Given the description of an element on the screen output the (x, y) to click on. 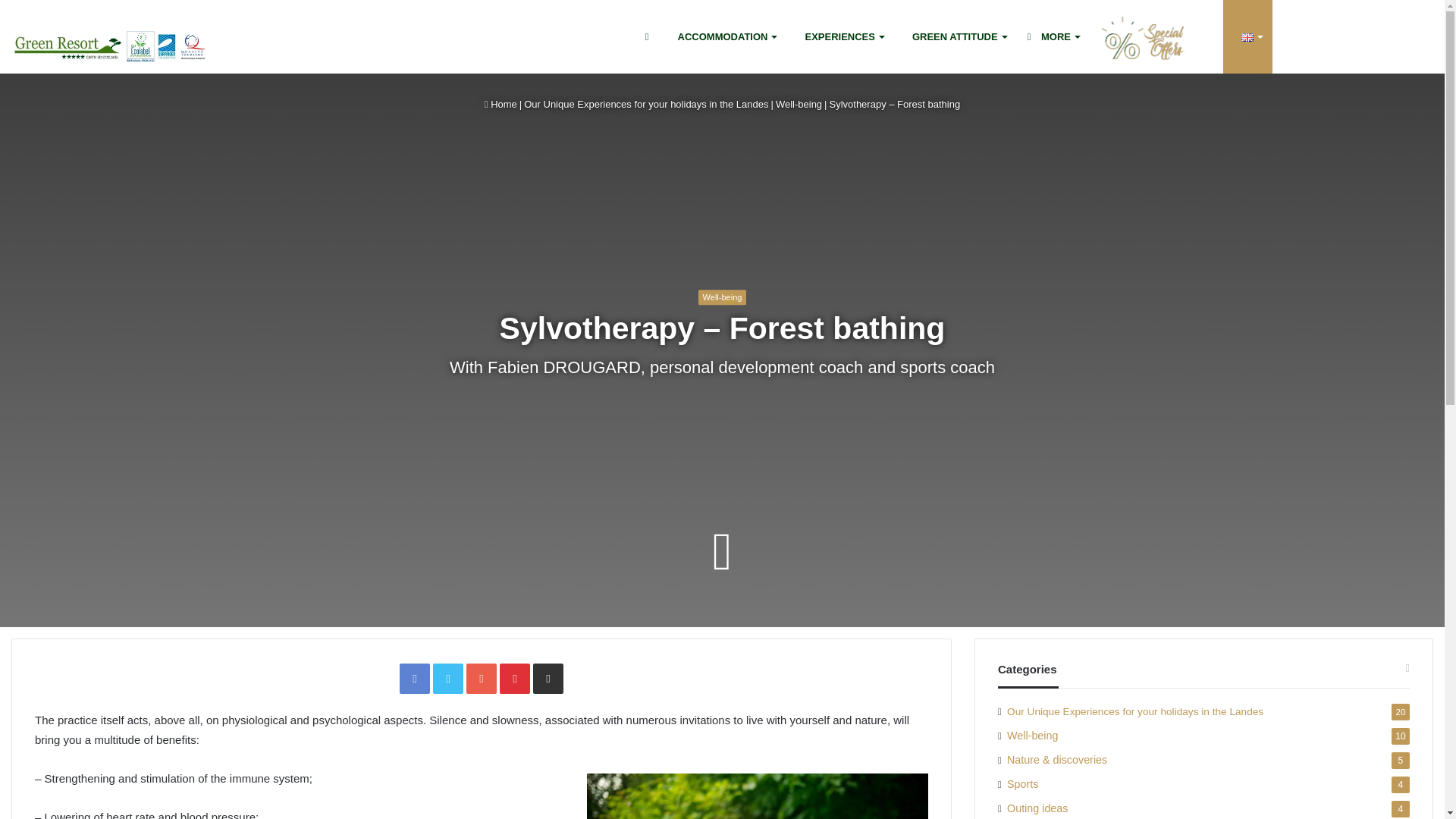
English (1247, 37)
GREEN ATTITUDE (954, 36)
Our Unique Experiences for your holidays in the Landes (646, 103)
EXPERIENCES (839, 36)
MORE (1052, 36)
Well-being (722, 296)
Well-being (799, 103)
Home (500, 103)
Green Resort (110, 45)
ACCOMMODATION (723, 36)
